Given the description of an element on the screen output the (x, y) to click on. 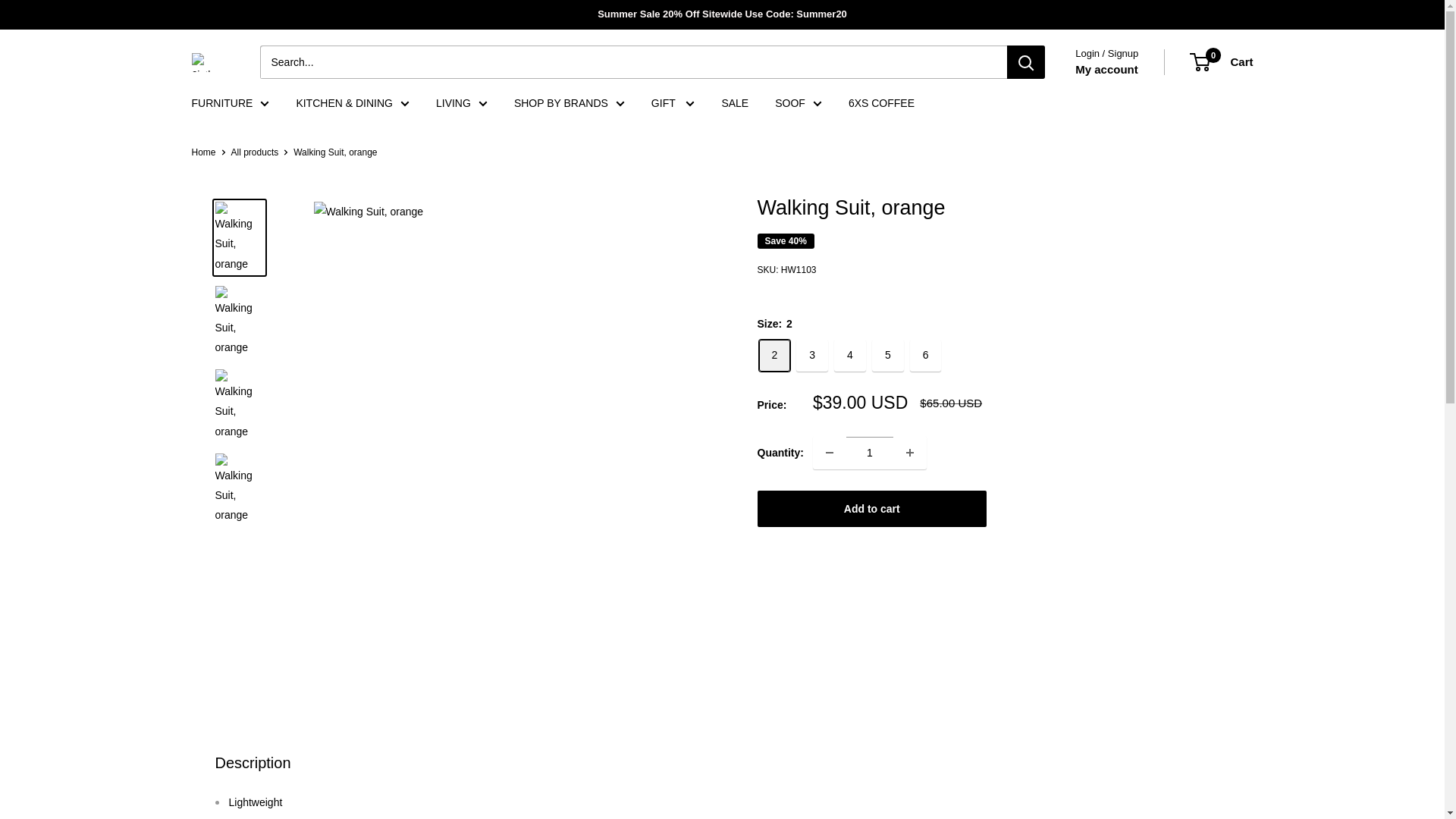
Increase quantity by 1 (909, 452)
Decrease quantity by 1 (829, 452)
4 (850, 355)
3 (812, 355)
6 (926, 355)
5 (888, 355)
1 (869, 452)
2 (774, 355)
